Given the description of an element on the screen output the (x, y) to click on. 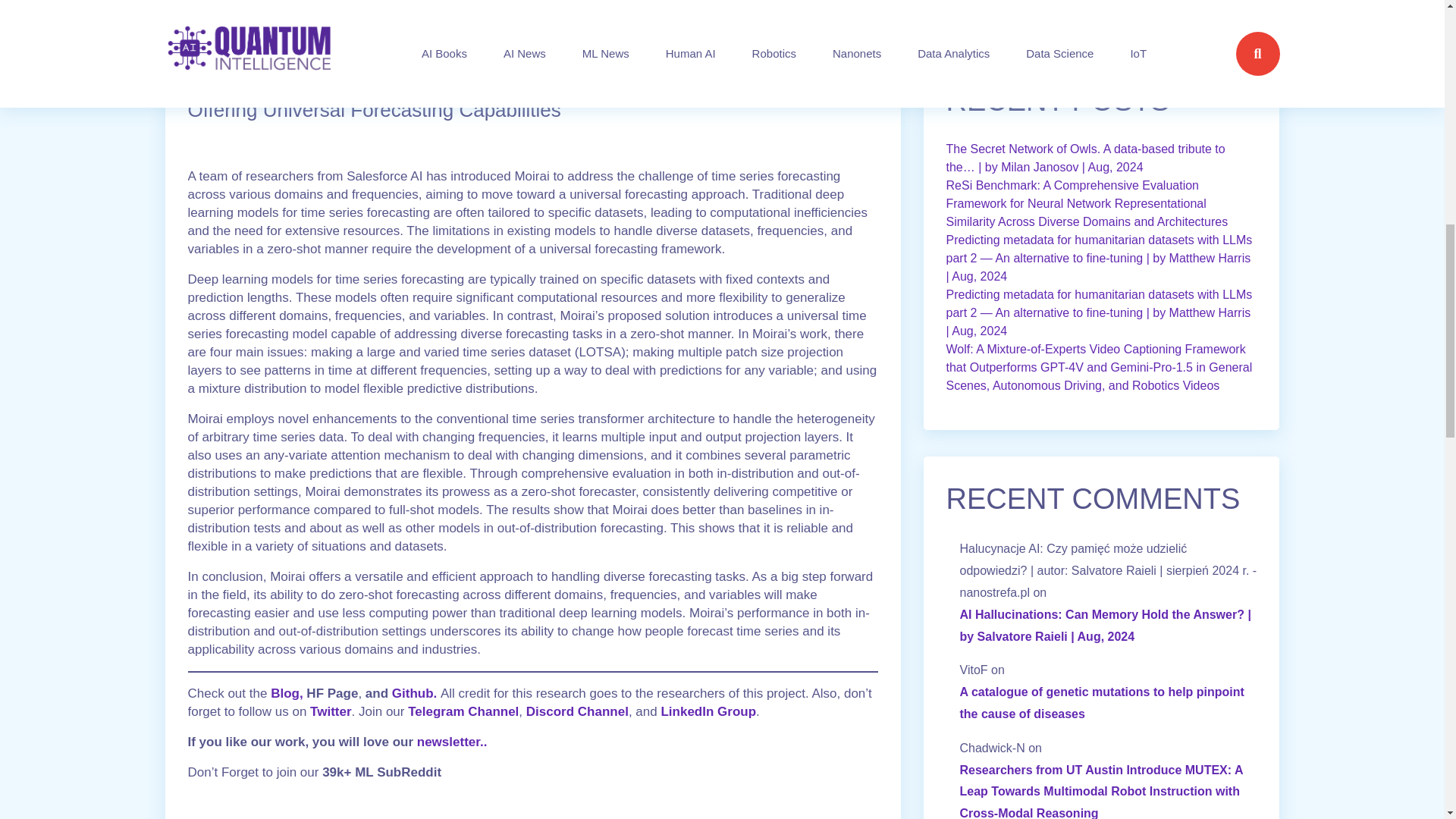
 newsletter.. (449, 742)
LinkedIn Gr (696, 711)
log, (290, 693)
Admin (323, 50)
oup (743, 711)
Admin (323, 50)
Telegram Channel (462, 711)
Github. (413, 693)
Twitter (330, 711)
0 Comments (235, 50)
 Discord Channel (575, 711)
